Given the description of an element on the screen output the (x, y) to click on. 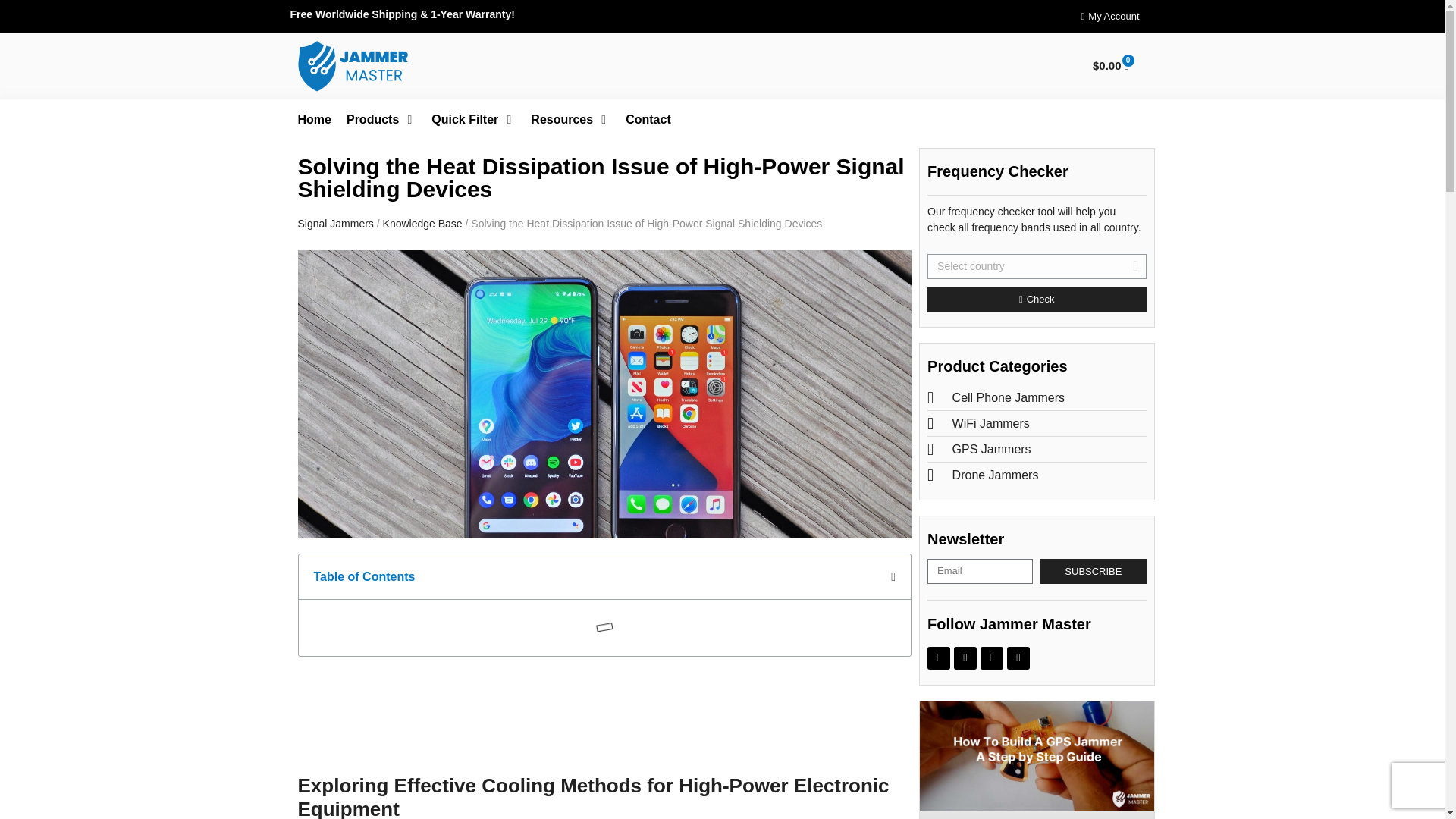
Home (313, 119)
Products (372, 119)
Quick Filter (463, 119)
Resources (561, 119)
My Account (1109, 16)
